Given the description of an element on the screen output the (x, y) to click on. 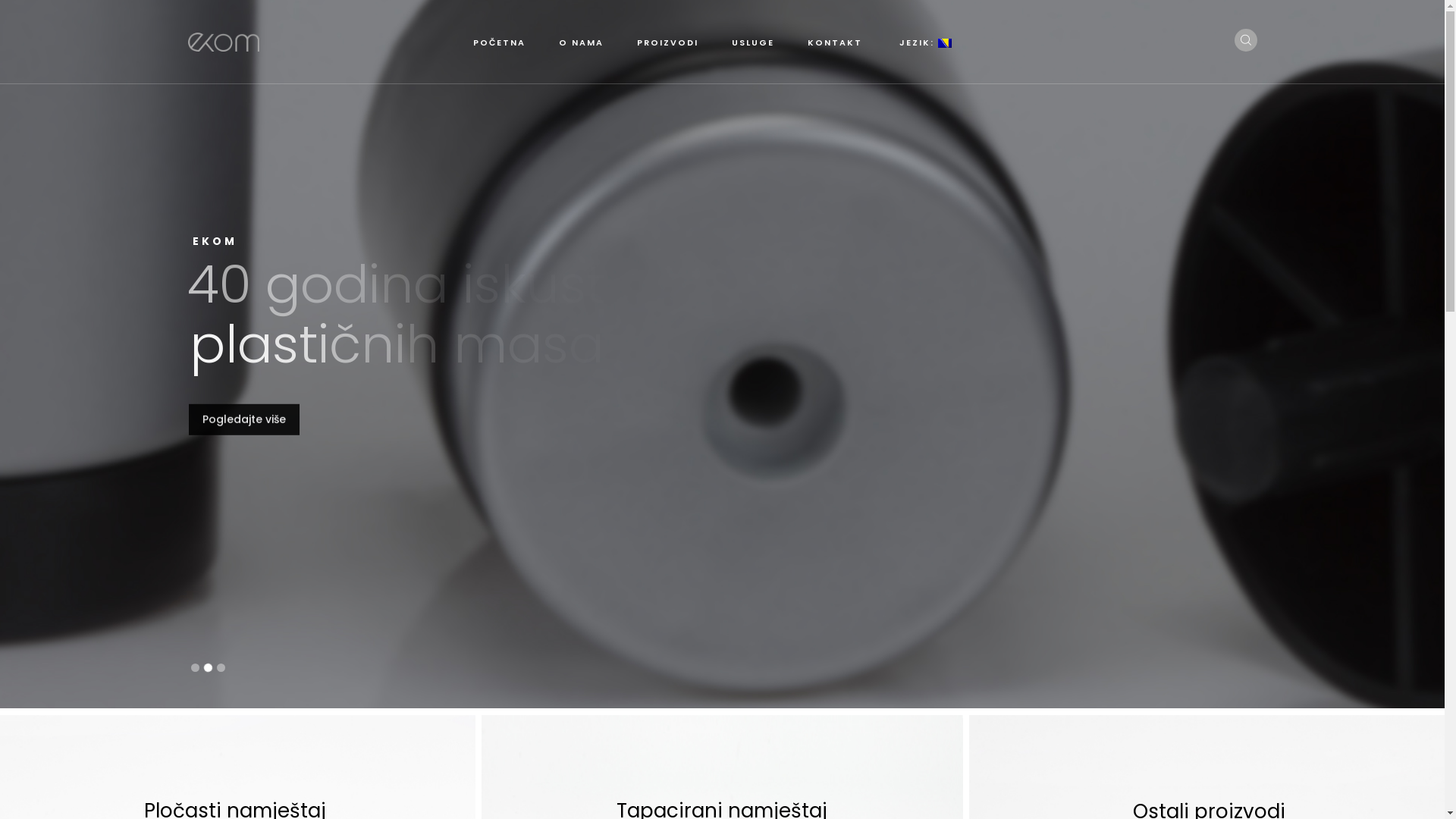
PROIZVODI Element type: text (667, 42)
USLUGE Element type: text (752, 42)
O NAMA Element type: text (580, 42)
 JEZIK:  Element type: text (923, 42)
KONTAKT Element type: text (834, 42)
